Given the description of an element on the screen output the (x, y) to click on. 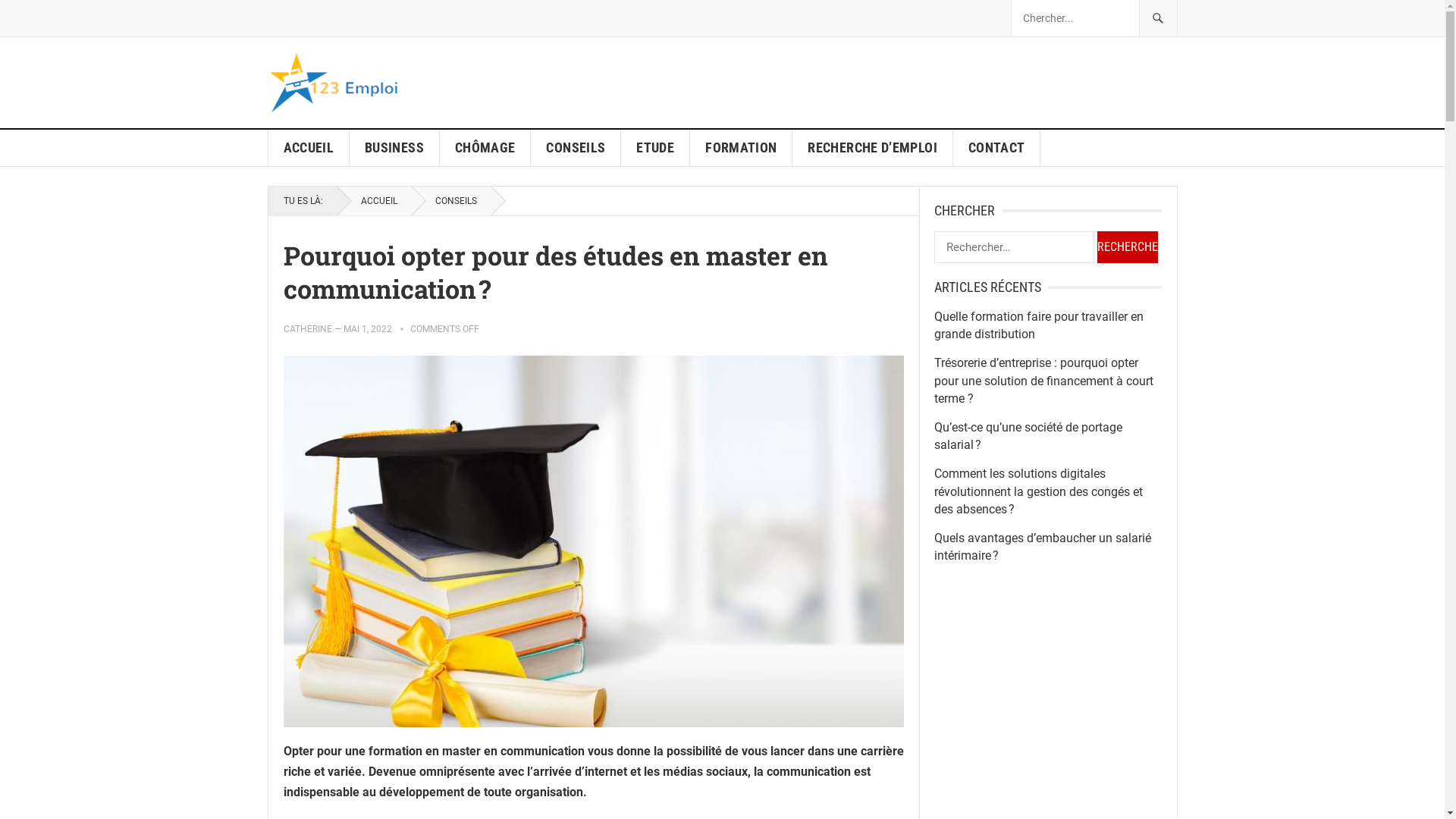
BUSINESS Element type: text (394, 147)
FORMATION Element type: text (741, 147)
ACCUEIL Element type: text (373, 200)
CATHERINE Element type: text (307, 328)
CONSEILS Element type: text (450, 200)
Rechercher Element type: text (1126, 247)
ETUDE Element type: text (655, 147)
CONTACT Element type: text (997, 147)
CONSEILS Element type: text (575, 147)
ACCUEIL Element type: text (309, 147)
